Given the description of an element on the screen output the (x, y) to click on. 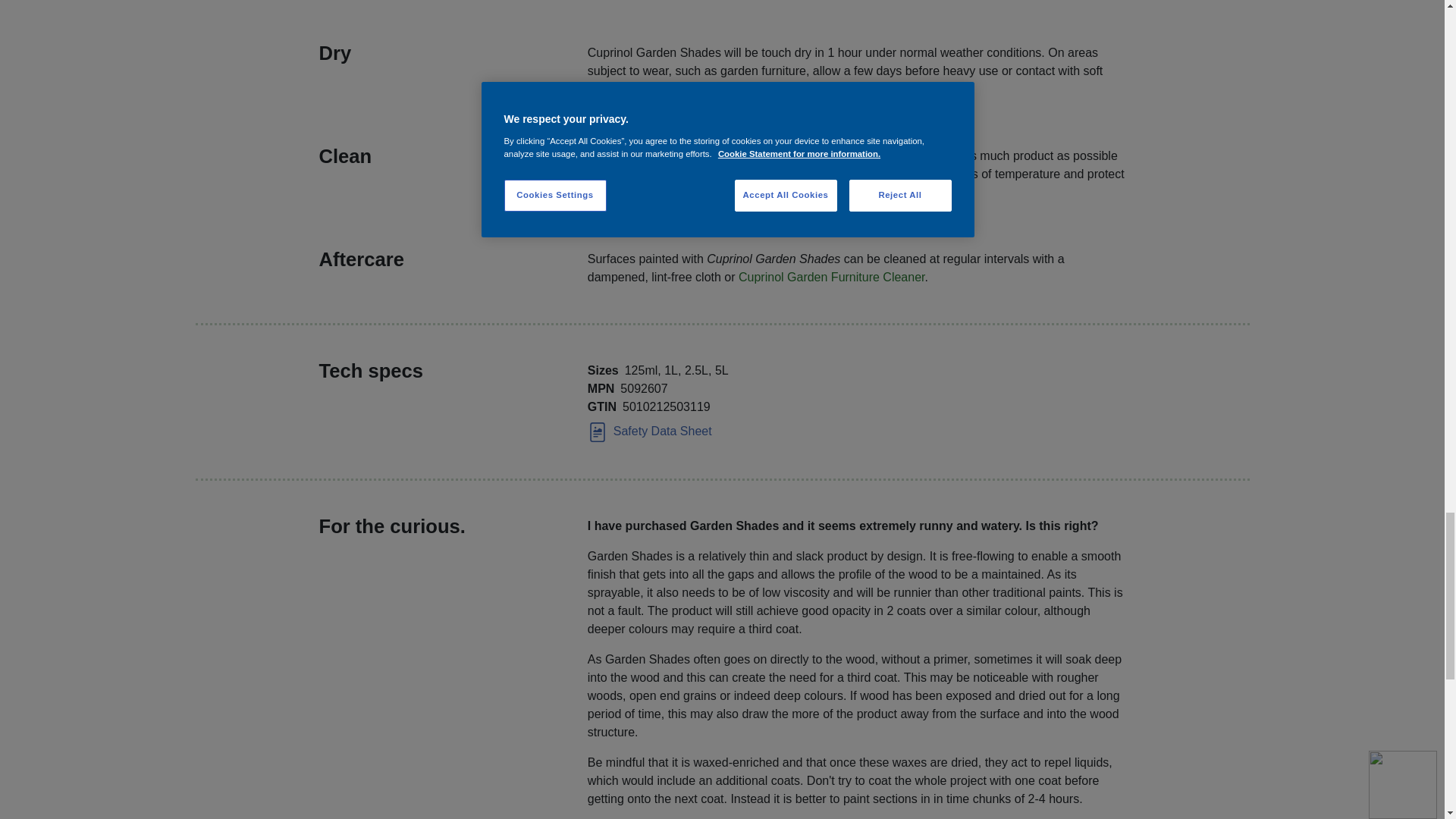
Cuprinol Garden Furniture Cleaner (831, 277)
